Given the description of an element on the screen output the (x, y) to click on. 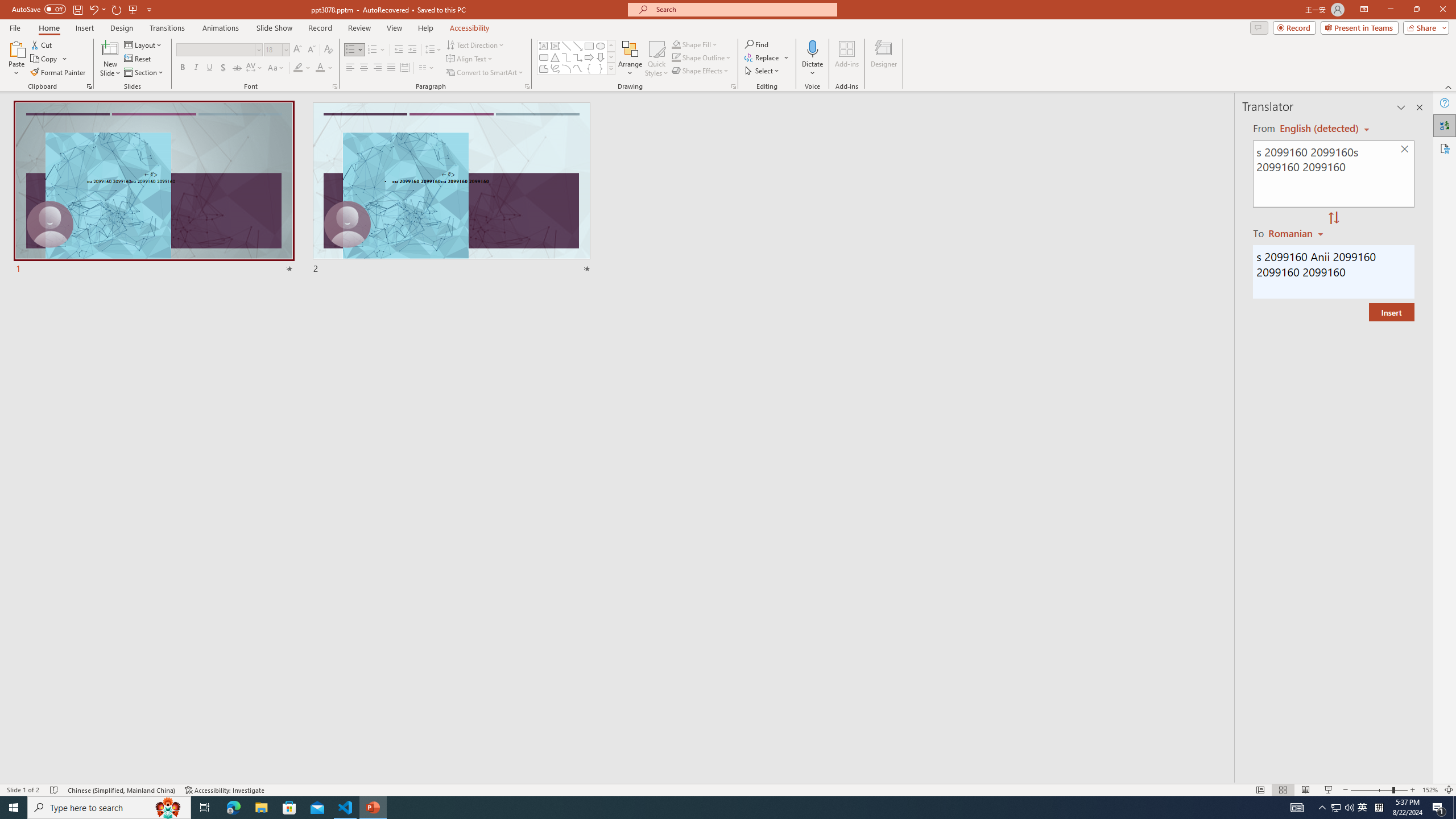
Shape Effects (700, 69)
